Given the description of an element on the screen output the (x, y) to click on. 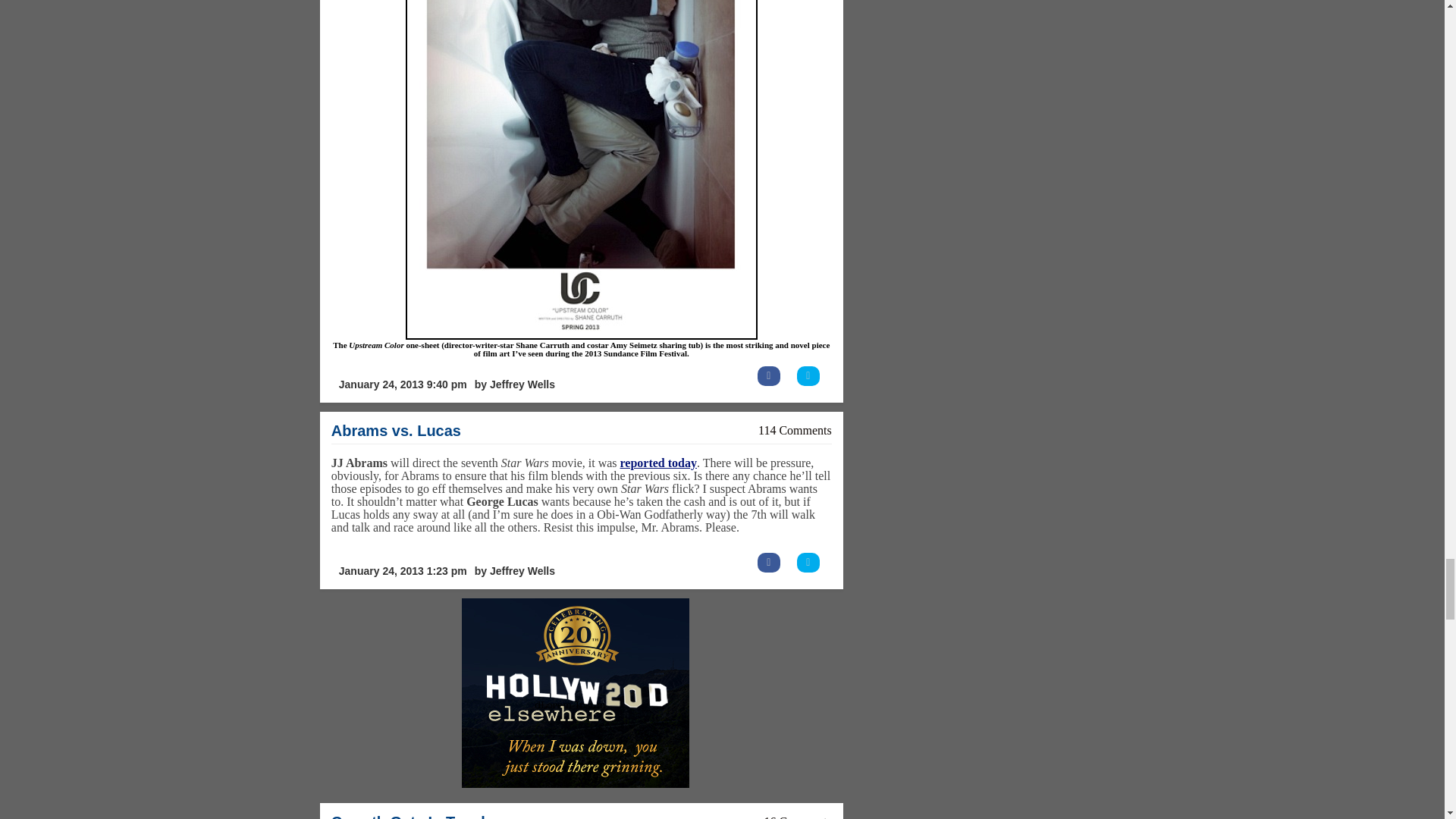
Permanent Link to Abrams vs. Lucas (396, 430)
Permanent Link to Carruth Gets In Touch (410, 816)
